Given the description of an element on the screen output the (x, y) to click on. 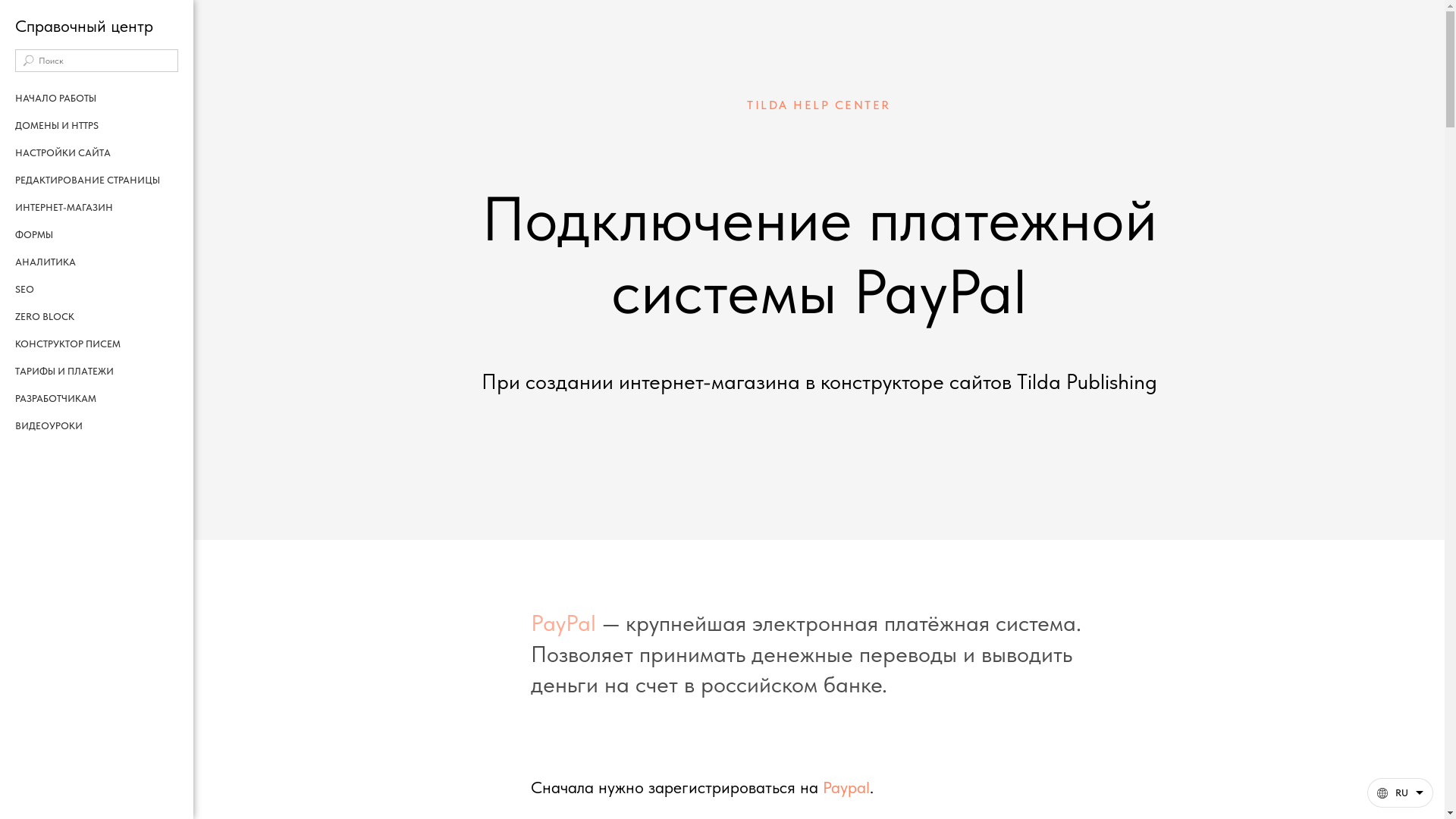
PayPal Element type: text (563, 622)
Paypal Element type: text (845, 787)
TILDA HELP CENTER Element type: text (818, 104)
